Given the description of an element on the screen output the (x, y) to click on. 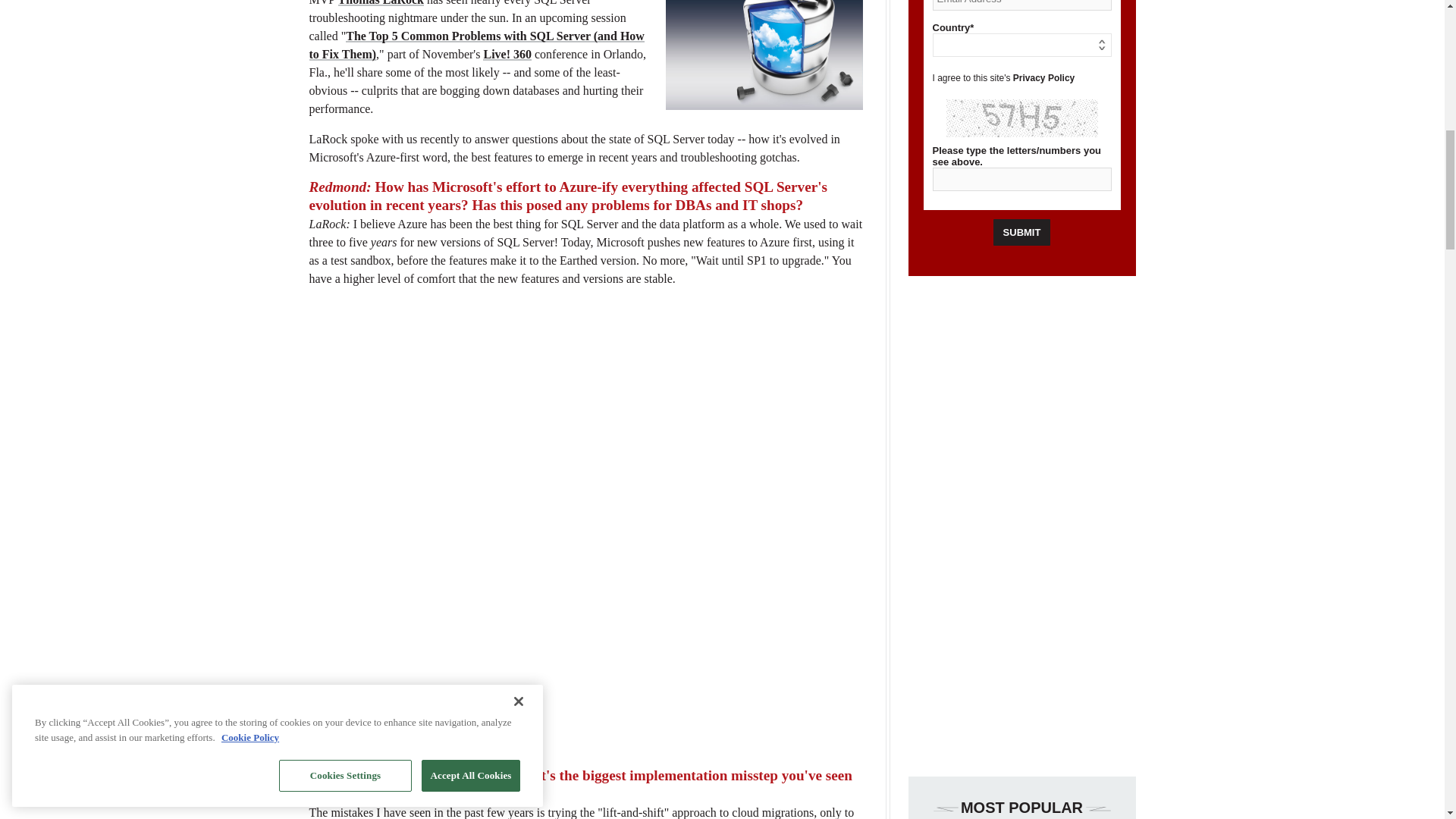
Live! 360 (507, 53)
3rd party ad content (1237, 95)
3rd party ad content (206, 95)
3rd party ad content (1021, 525)
Submit (1021, 232)
3rd party ad content (584, 527)
Thomas LaRock (380, 2)
WebsiteVoice (98, 32)
